Given the description of an element on the screen output the (x, y) to click on. 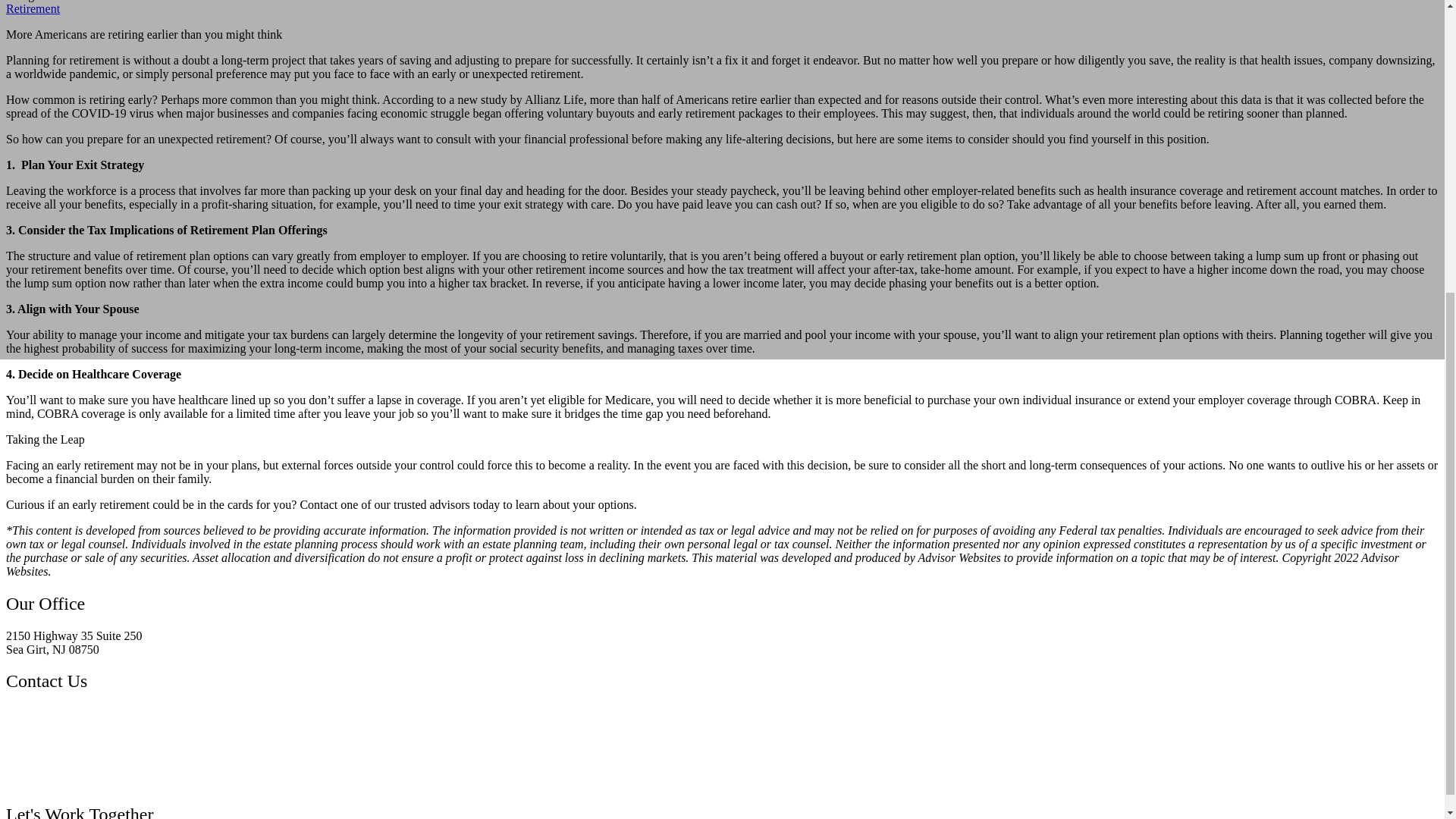
Retirement (32, 8)
732-580-8039 (40, 712)
